Given the description of an element on the screen output the (x, y) to click on. 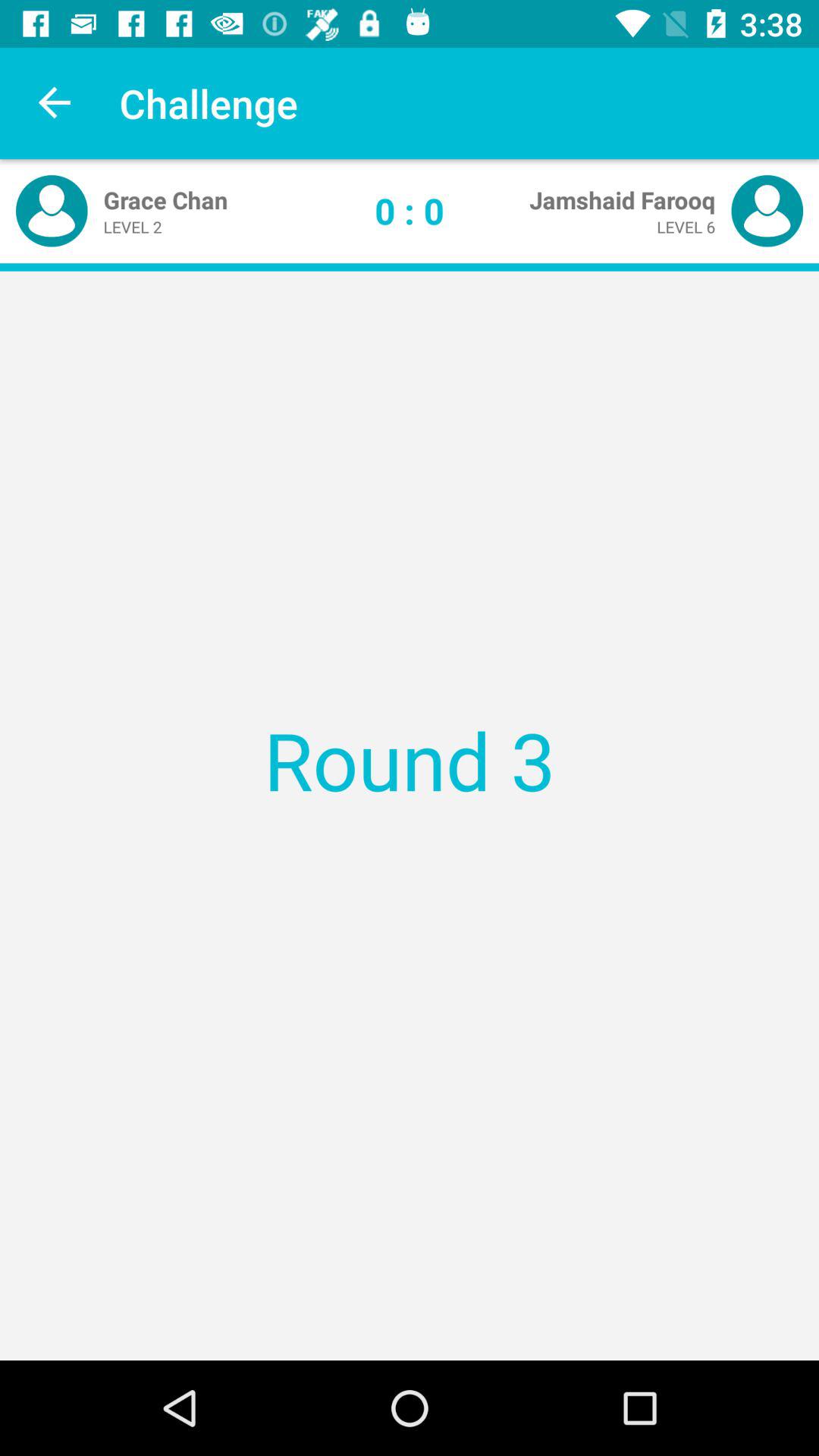
select the text at the bottom (409, 1296)
